Given the description of an element on the screen output the (x, y) to click on. 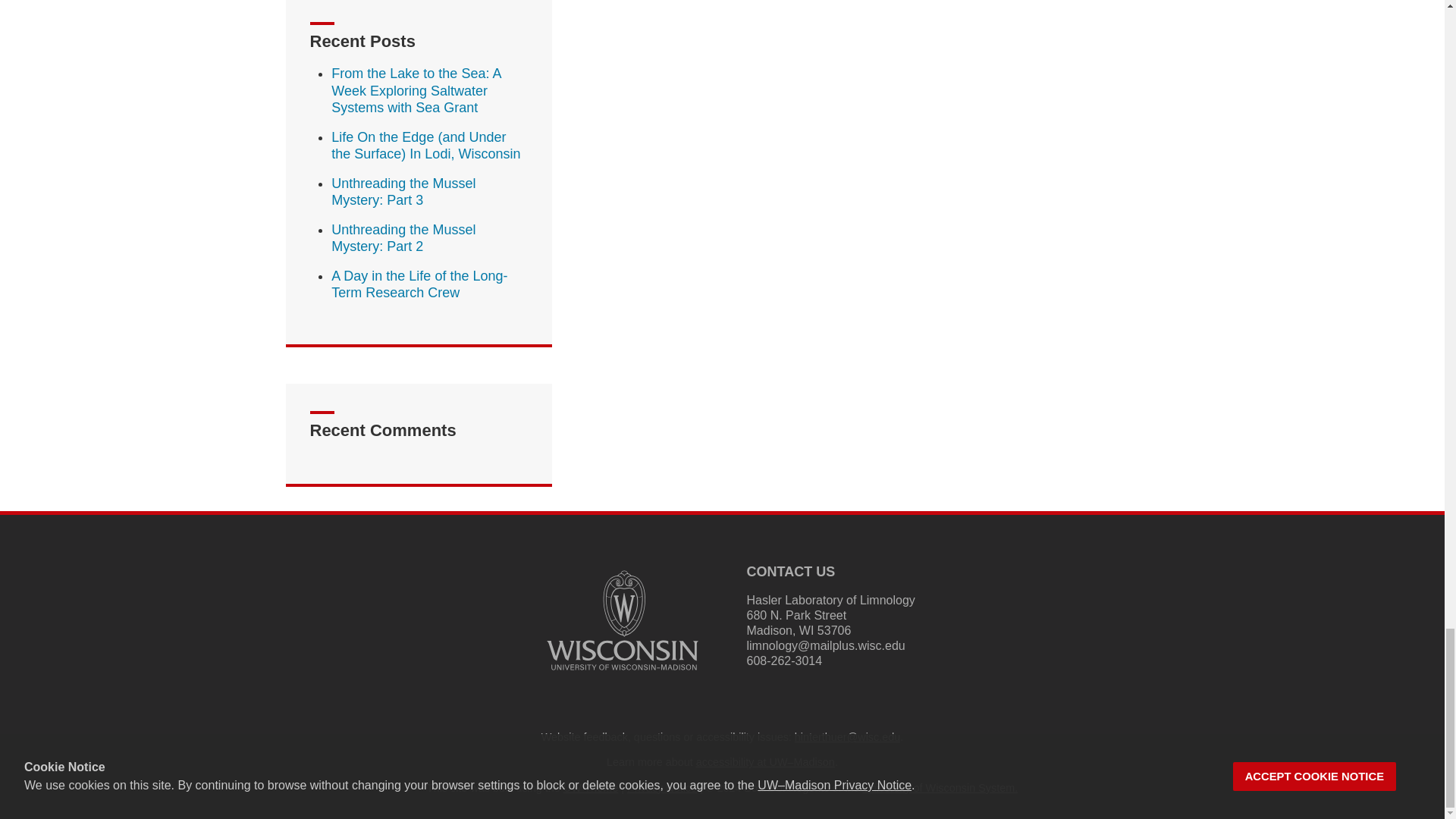
Unthreading the Mussel Mystery: Part 3 (403, 192)
Unthreading the Mussel Mystery: Part 2 (403, 237)
A Day in the Life of the Long-Term Research Crew (418, 284)
University logo that links to main university website (621, 620)
University logo that links to main university website (621, 672)
